Given the description of an element on the screen output the (x, y) to click on. 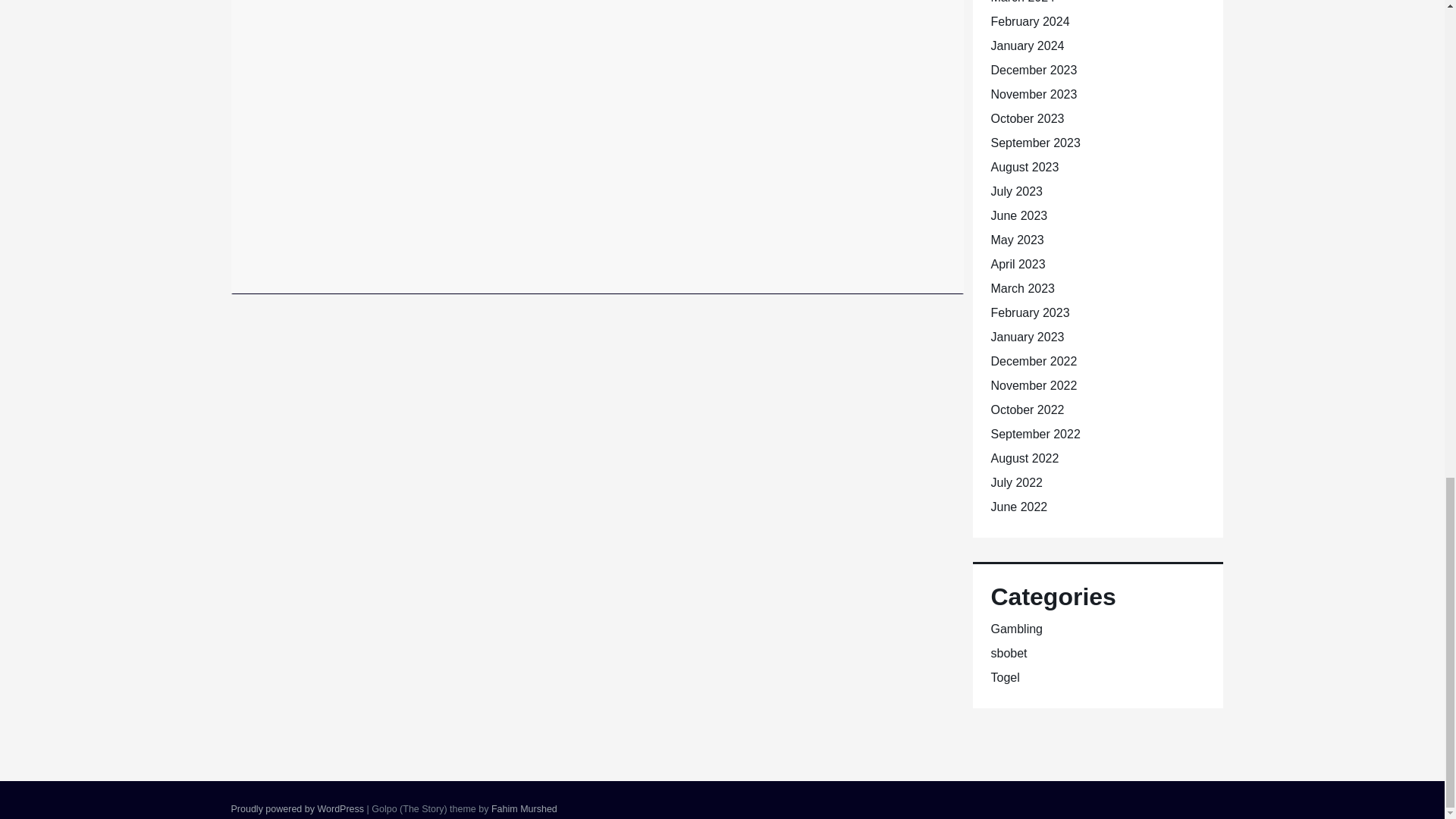
situs togel deposit pulsa tanpa potongan (704, 249)
October 2023 (1027, 118)
November 2023 (1033, 93)
bandar togel terpercaya (462, 240)
February 2024 (1029, 21)
bo togel deposit pulsa" (565, 240)
July 2023 (1016, 191)
togel deposit pulsa (609, 258)
December 2023 (1033, 69)
togel hari ini (854, 258)
